Given the description of an element on the screen output the (x, y) to click on. 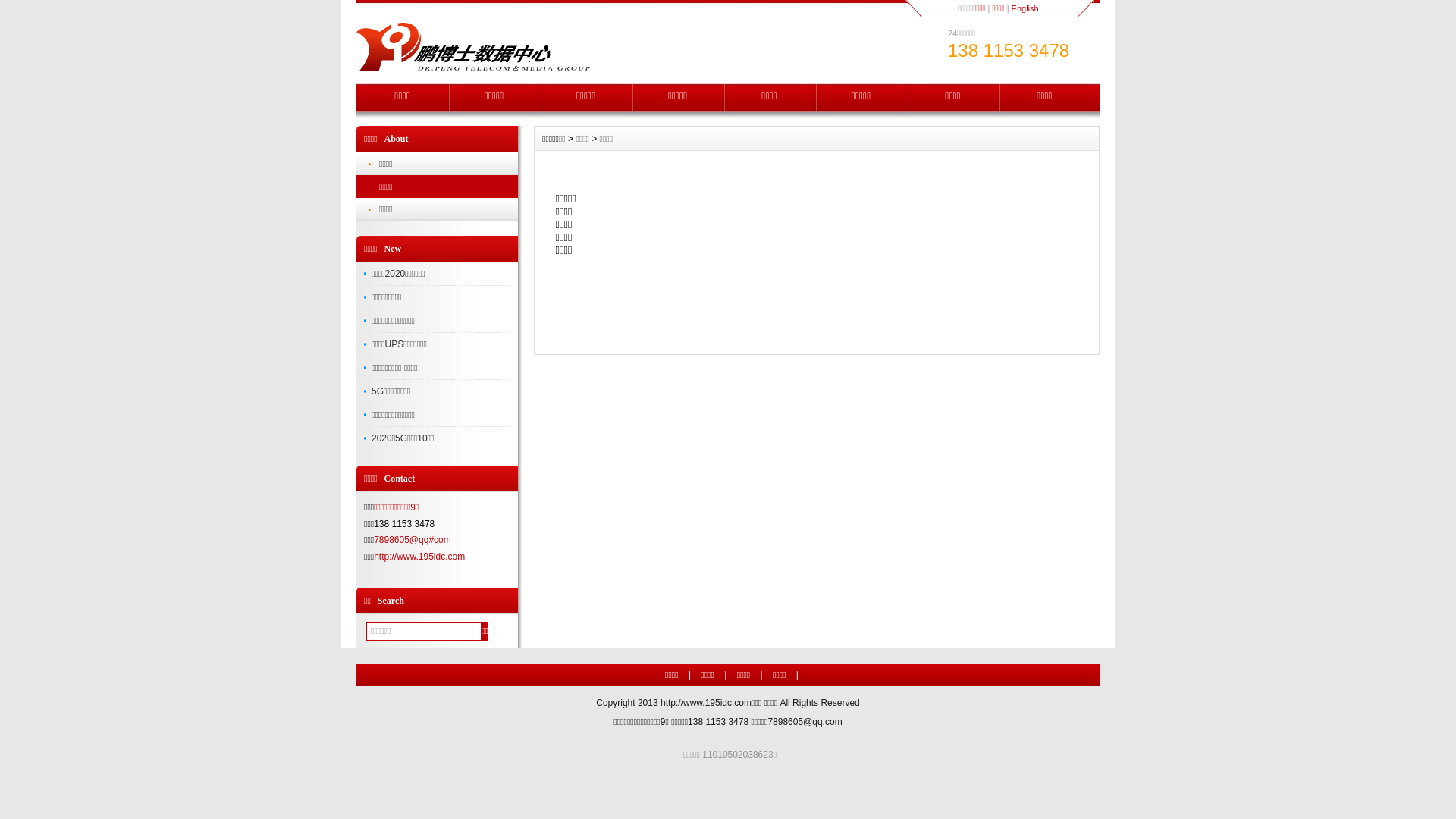
7898605@qq.com Element type: text (804, 721)
http://www.195idc.com Element type: text (418, 556)
English Element type: text (1024, 7)
http://www.195idc.com Element type: text (705, 702)
7898605@qq#com Element type: text (412, 539)
